Given the description of an element on the screen output the (x, y) to click on. 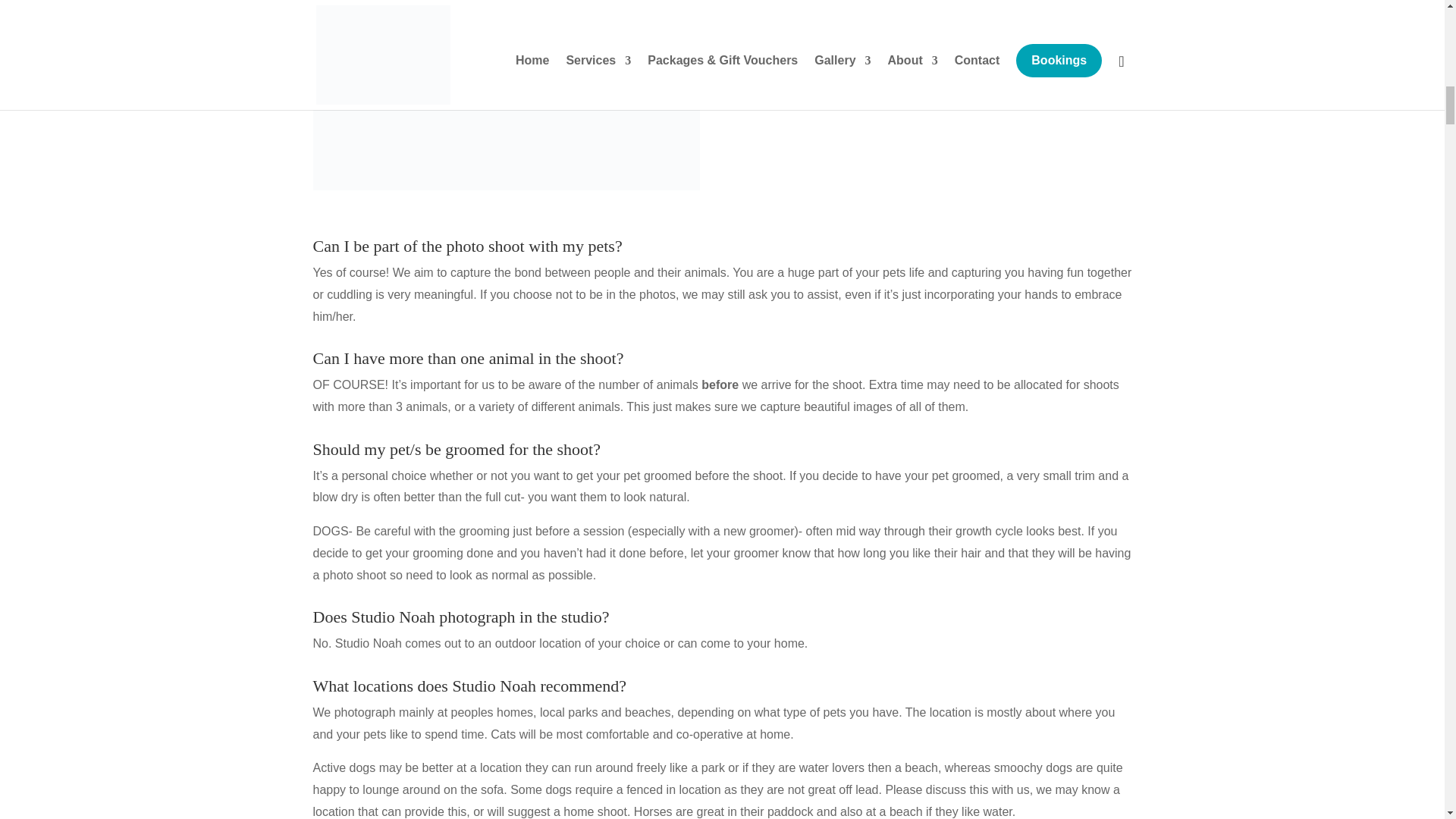
63-studio-noah-perth-pet-photographer-beach-couple-dog (505, 95)
